Given the description of an element on the screen output the (x, y) to click on. 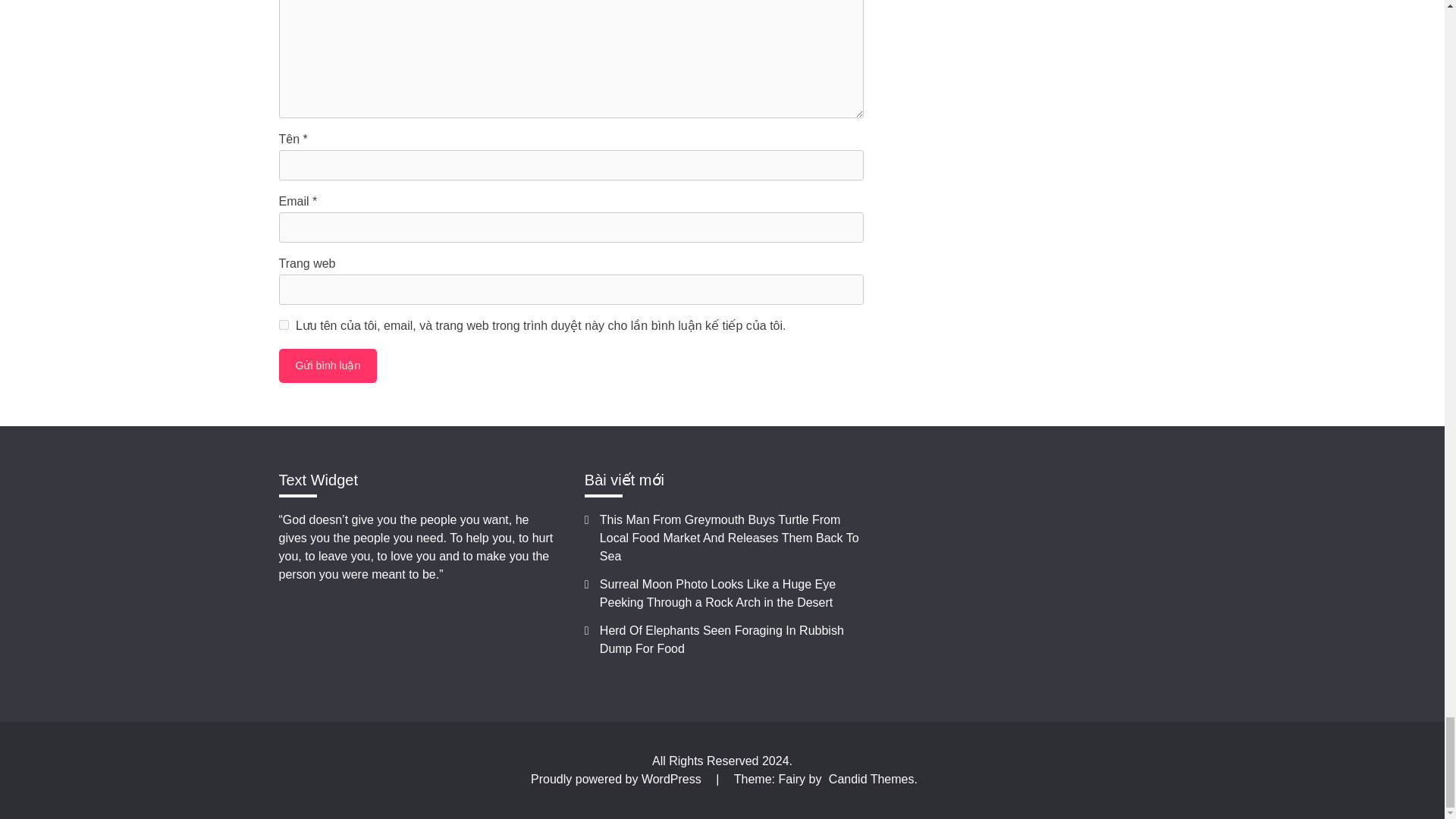
yes (283, 325)
